Given the description of an element on the screen output the (x, y) to click on. 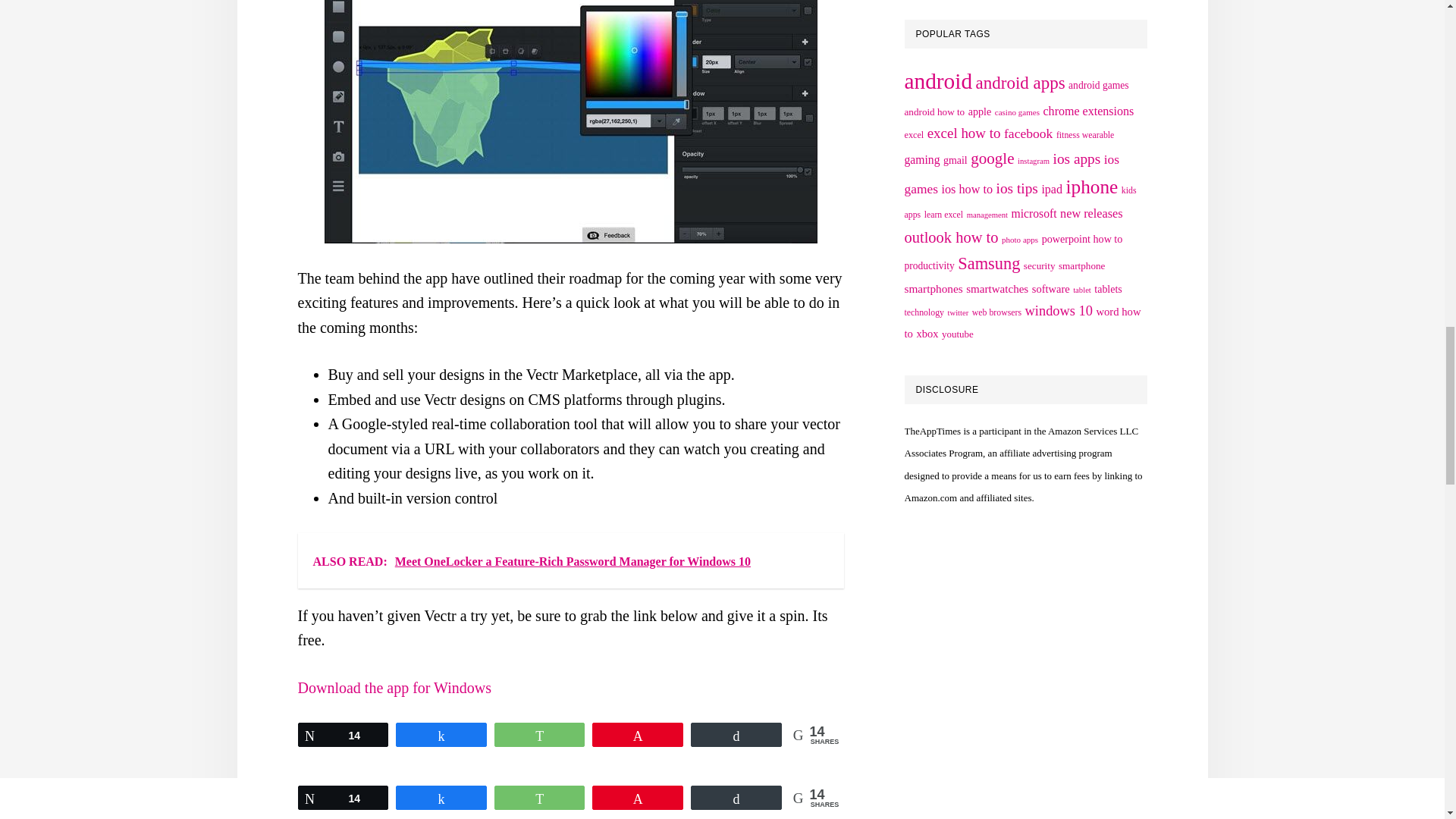
Download the app for Windows (393, 687)
14 (343, 734)
